Given the description of an element on the screen output the (x, y) to click on. 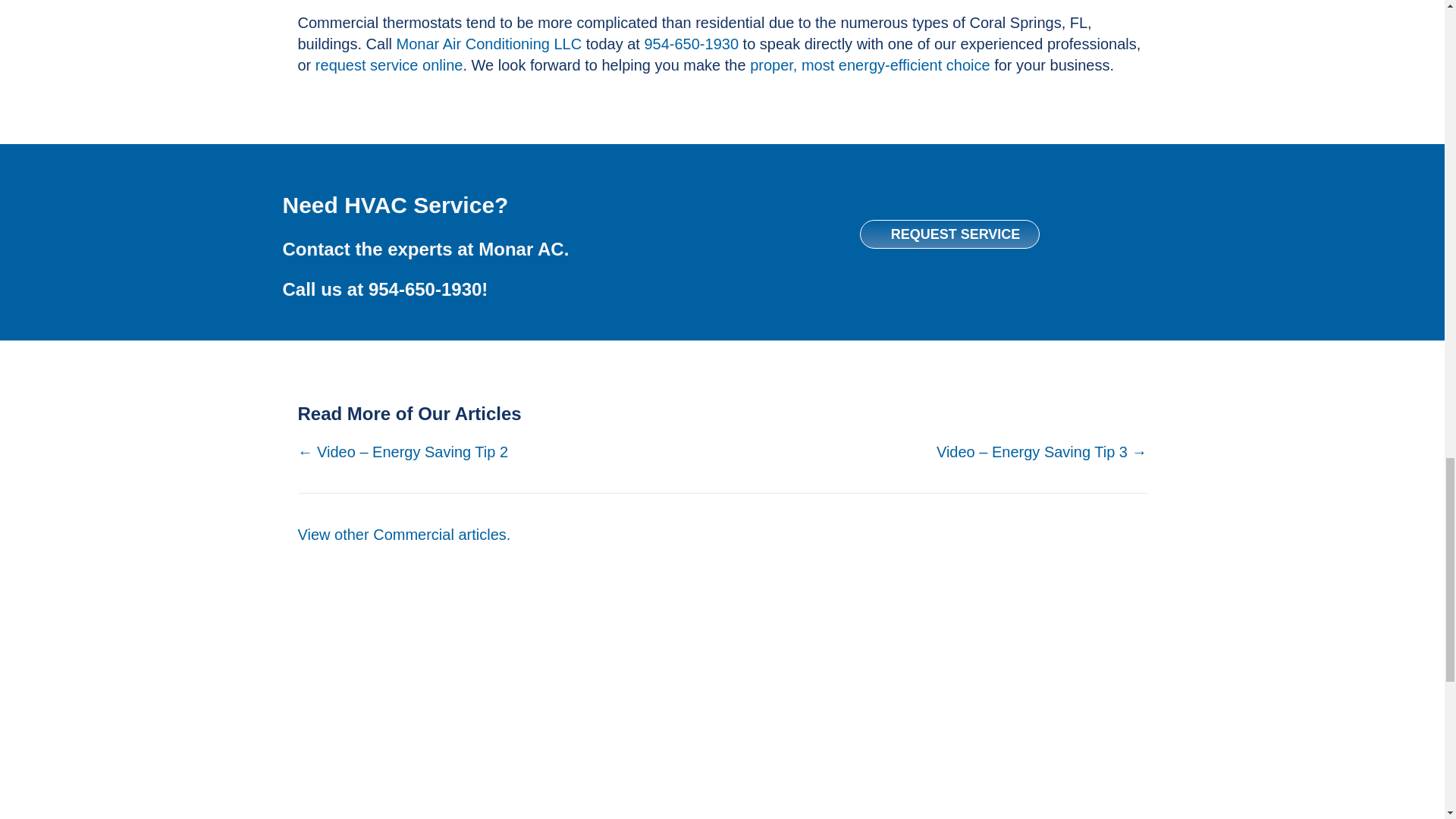
MAI Logo-RGB (721, 693)
